Given the description of an element on the screen output the (x, y) to click on. 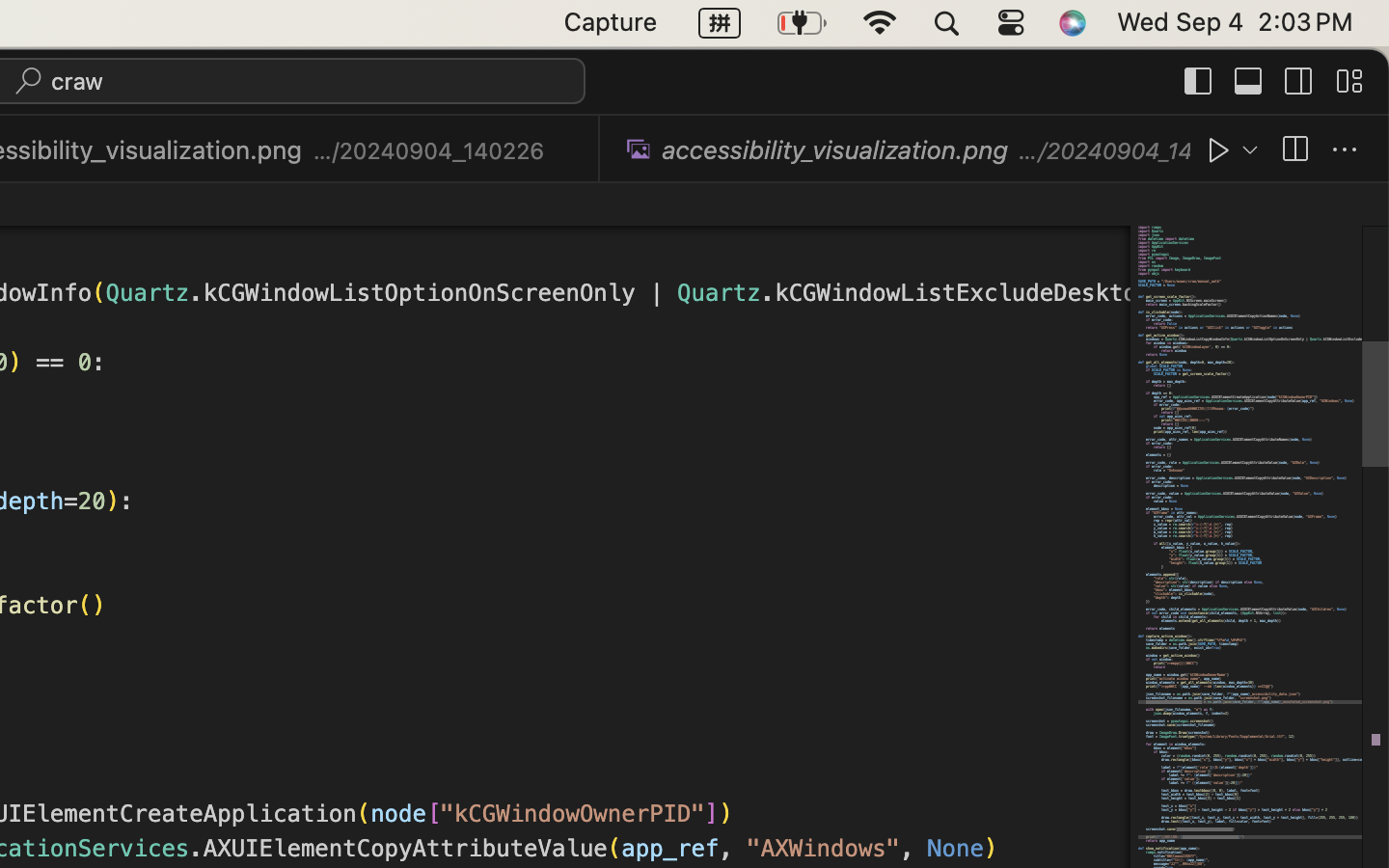
 Element type: AXCheckBox (1248, 80)
 Element type: AXCheckBox (1299, 80)
…/20240904_140044 Element type: AXStaticText (1104, 149)
